Given the description of an element on the screen output the (x, y) to click on. 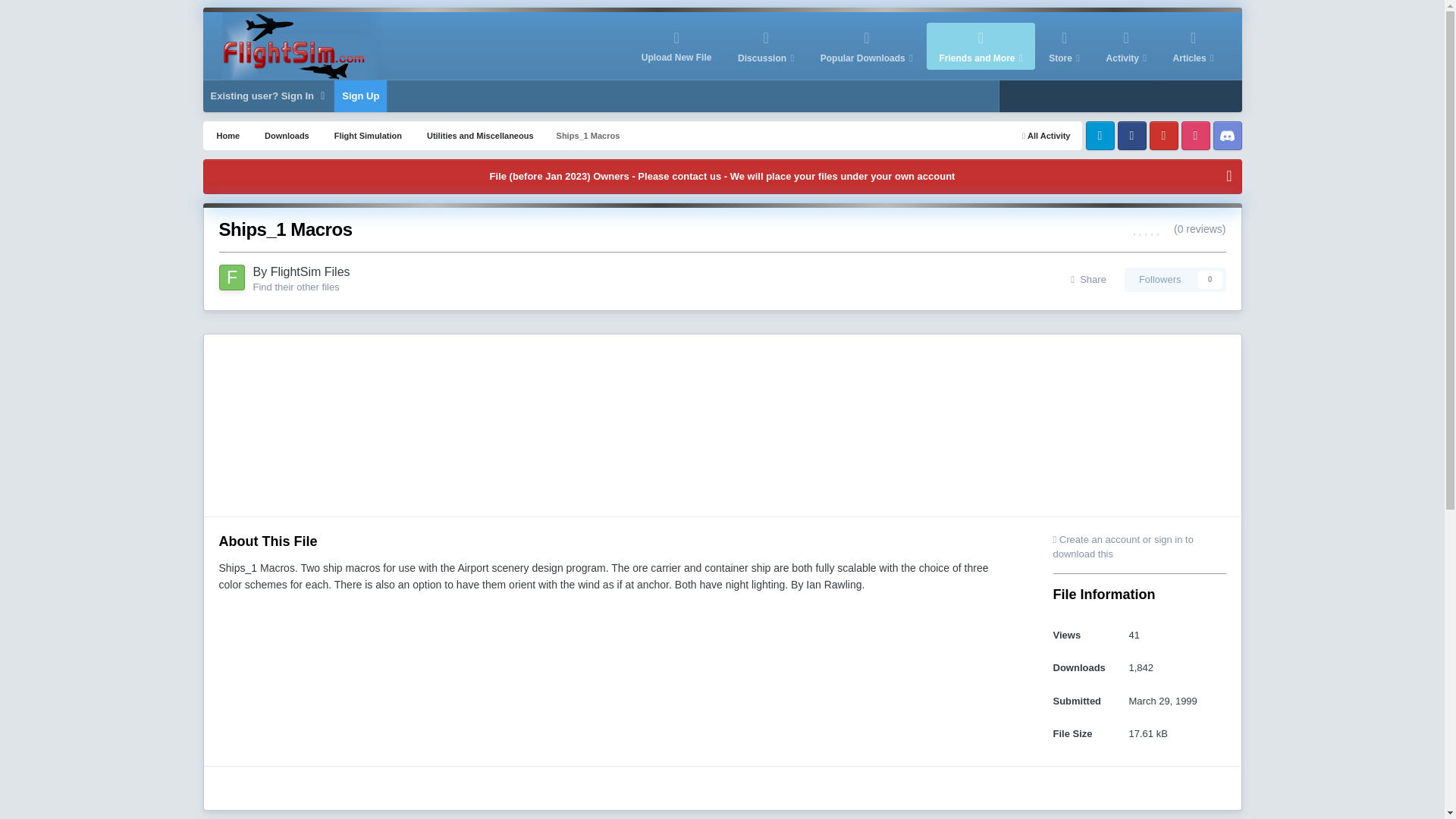
Go to FlightSim Files's profile (231, 277)
Popular Downloads (867, 45)
Sign in to follow this (1174, 279)
Go to FlightSim Files's profile (310, 271)
Home (227, 135)
Discussion (765, 45)
Upload New File (675, 45)
